Given the description of an element on the screen output the (x, y) to click on. 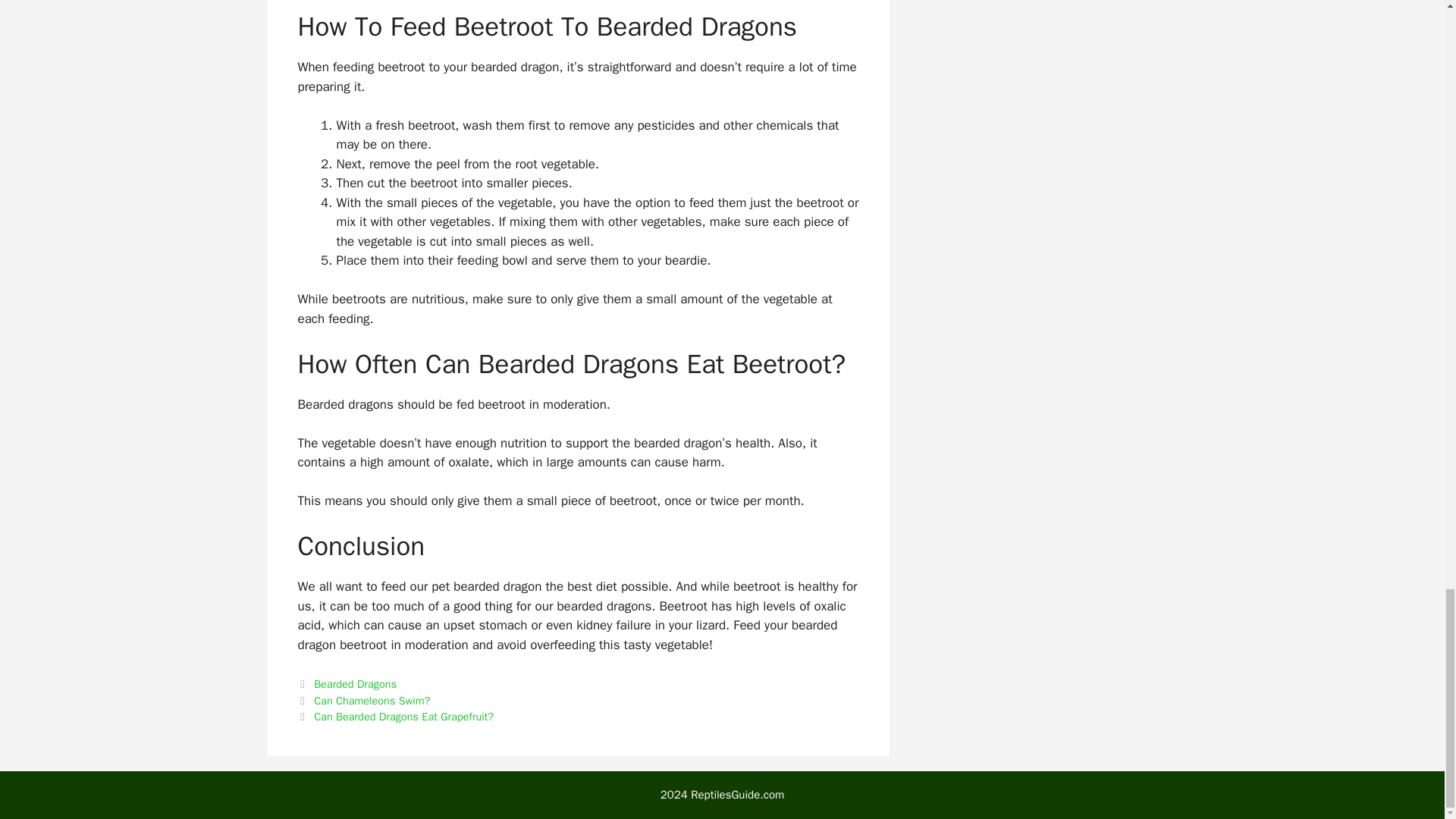
Can Bearded Dragons Eat Grapefruit? (403, 716)
Bearded Dragons (355, 684)
Can Chameleons Swim? (371, 700)
